Given the description of an element on the screen output the (x, y) to click on. 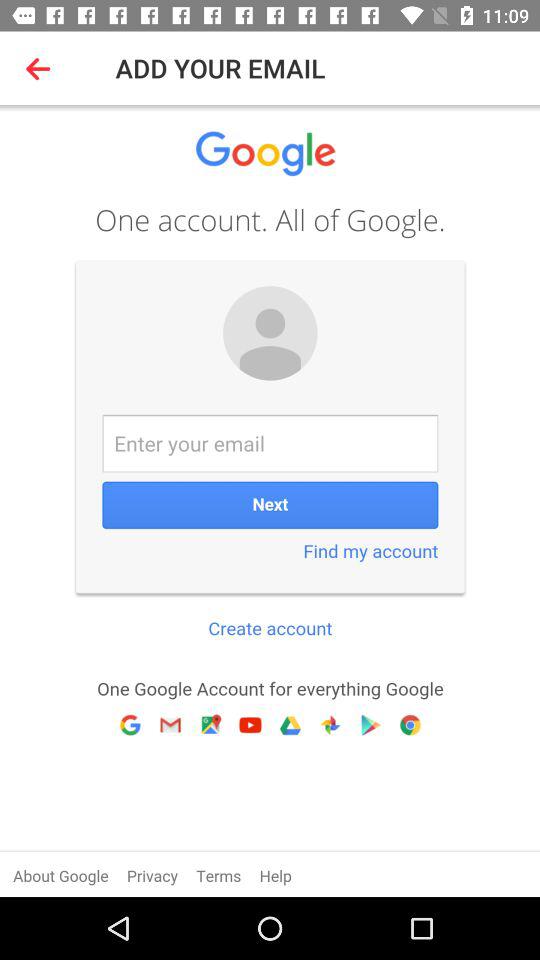
google log-in (270, 501)
